Given the description of an element on the screen output the (x, y) to click on. 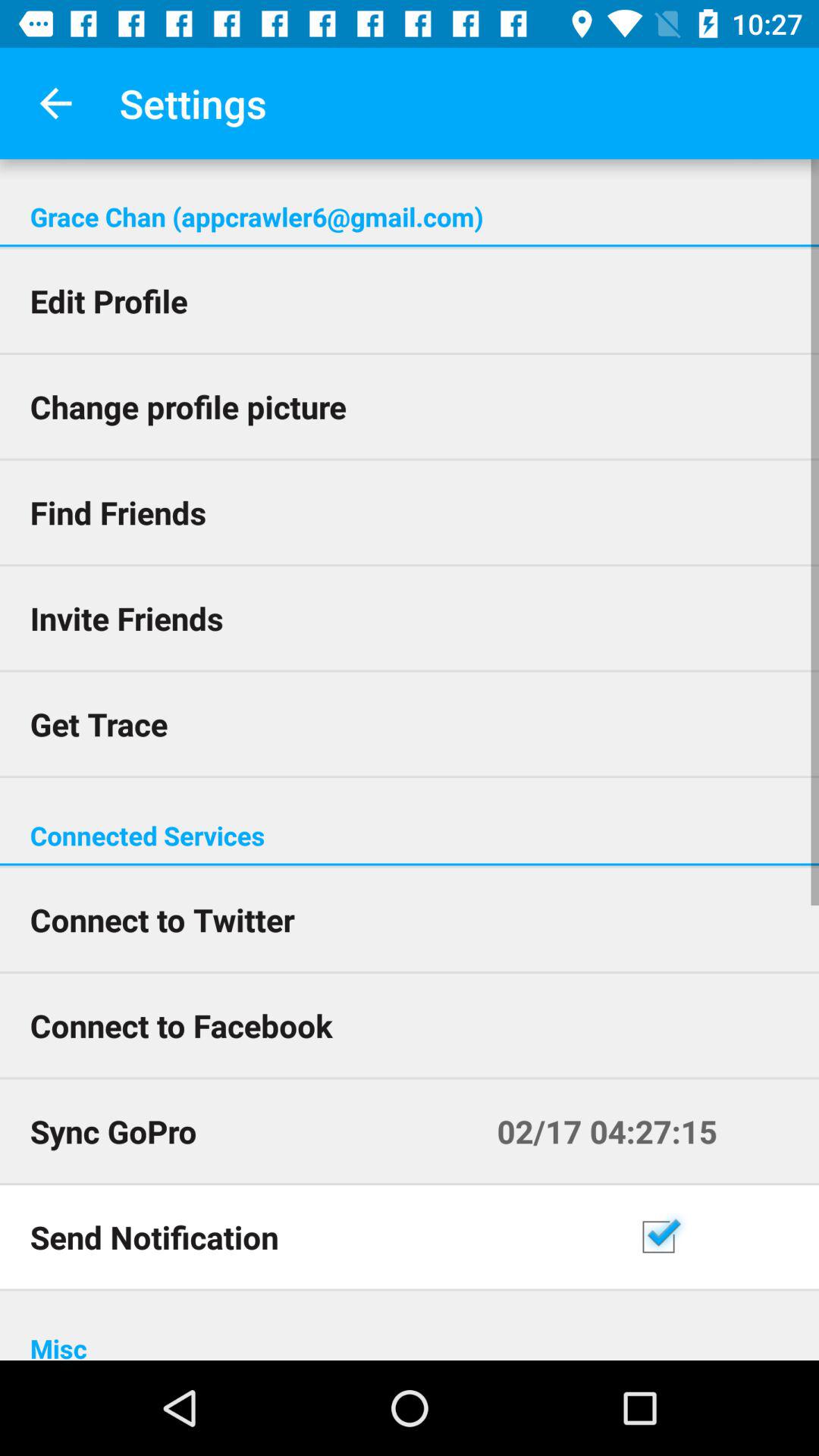
turn off item below invite friends icon (409, 723)
